Given the description of an element on the screen output the (x, y) to click on. 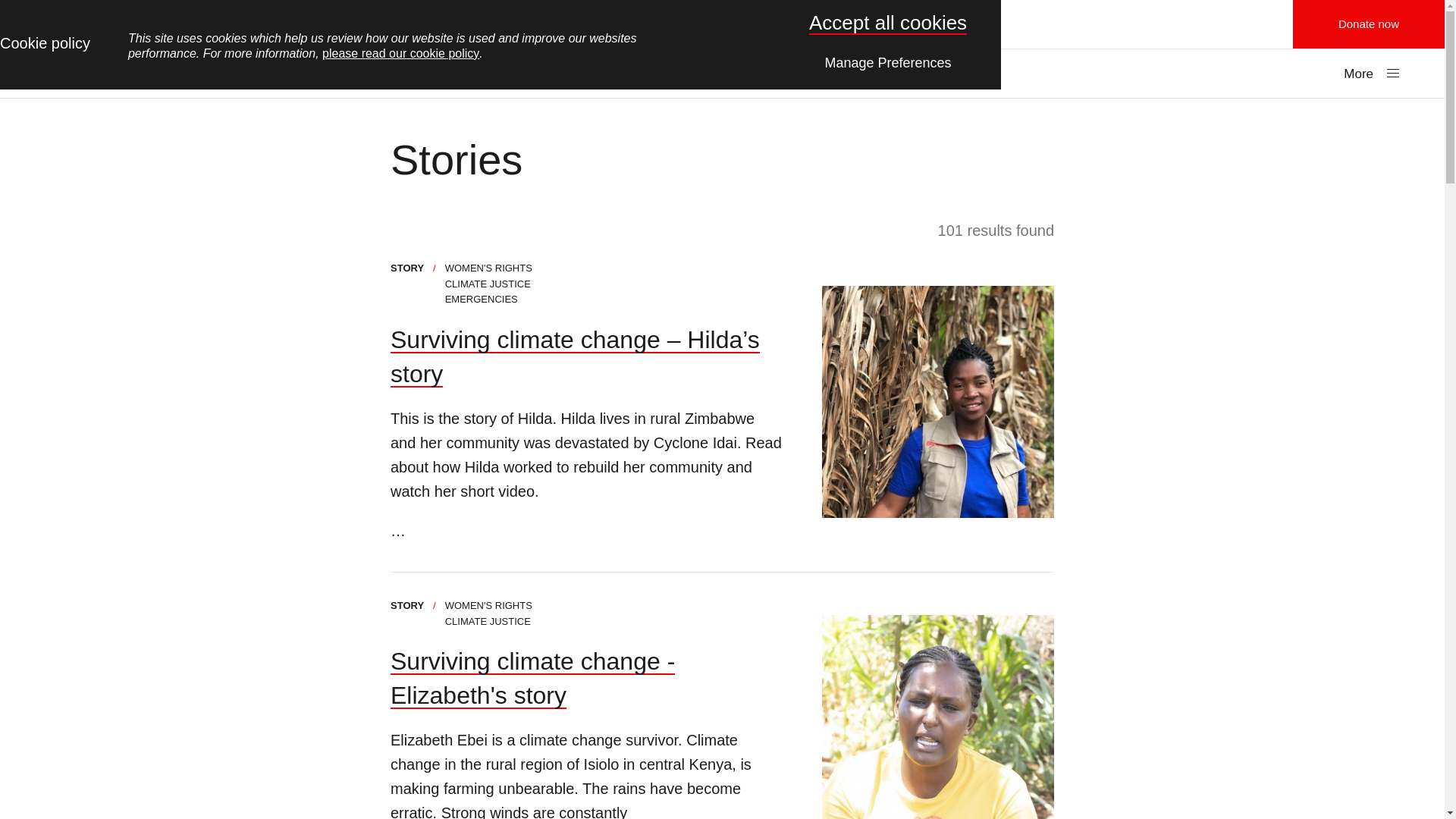
Manage Preferences (887, 61)
ActionAid International Home (722, 23)
Accept all cookies (887, 23)
please read our cookie policy (400, 52)
